Given the description of an element on the screen output the (x, y) to click on. 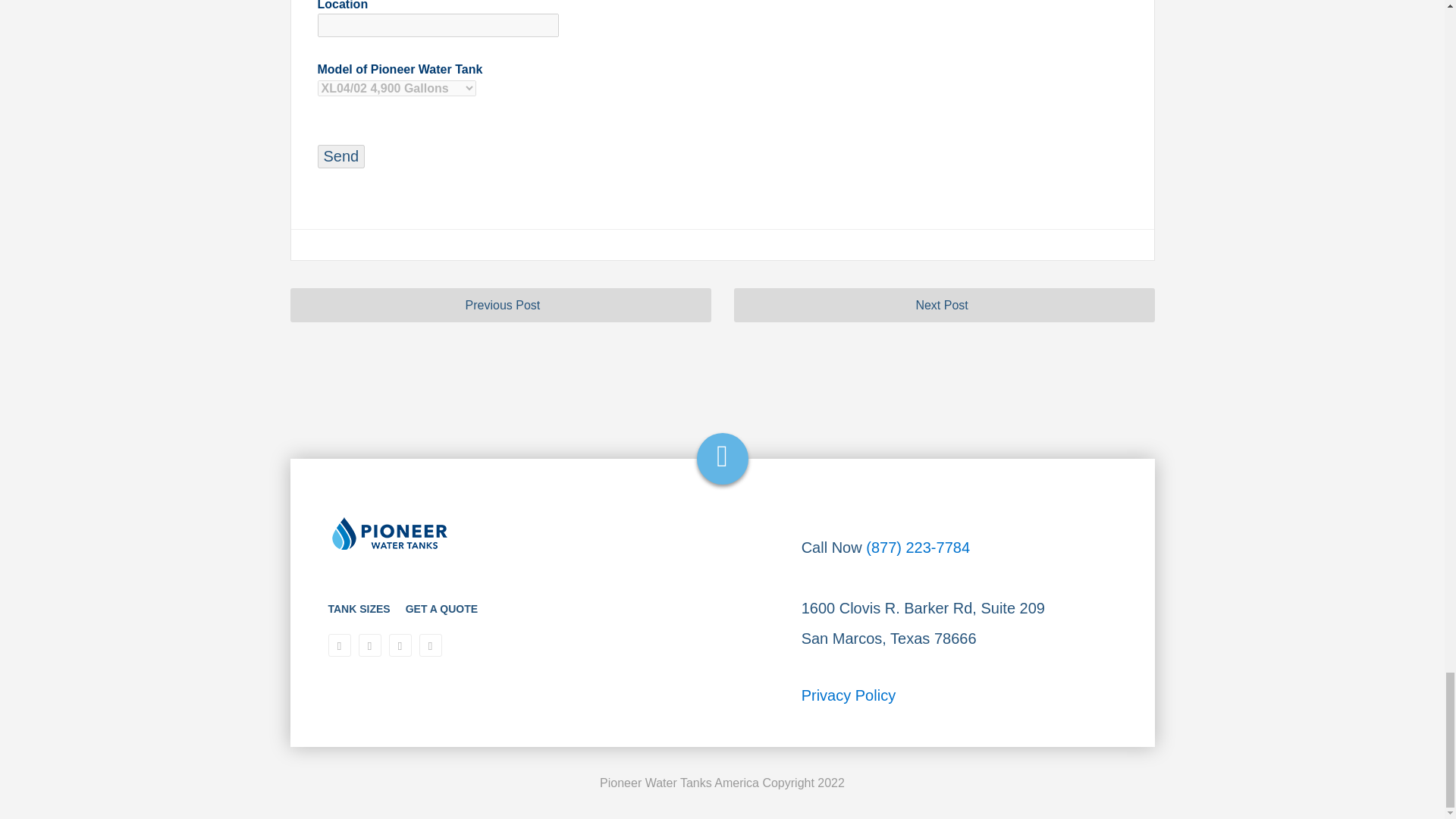
Send (341, 156)
